Given the description of an element on the screen output the (x, y) to click on. 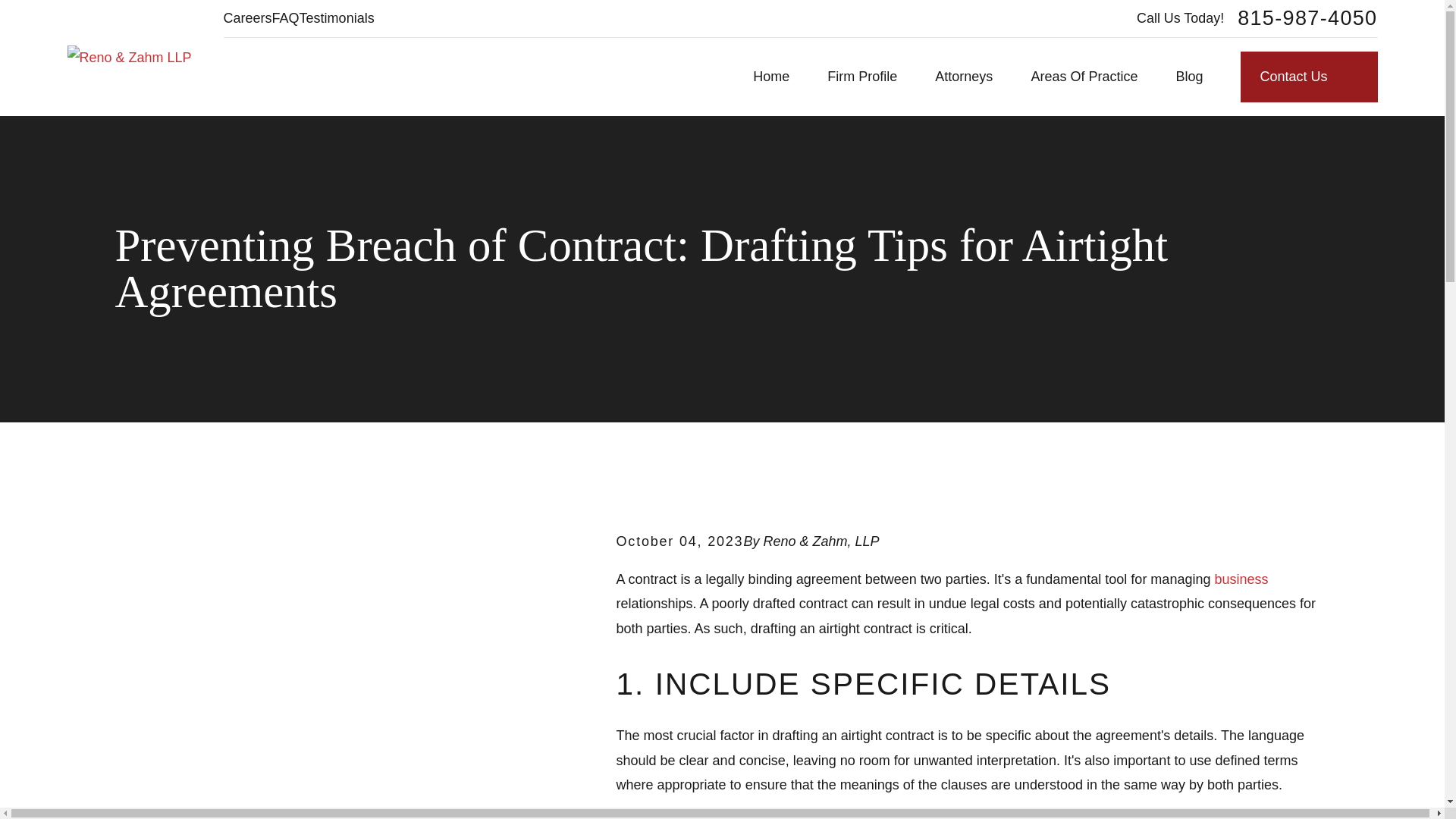
Testimonials (336, 17)
815-987-4050 (1307, 18)
FAQ (285, 17)
Firm Profile (861, 77)
Areas Of Practice (1083, 77)
Attorneys (963, 77)
Careers (248, 17)
Home (128, 57)
